Given the description of an element on the screen output the (x, y) to click on. 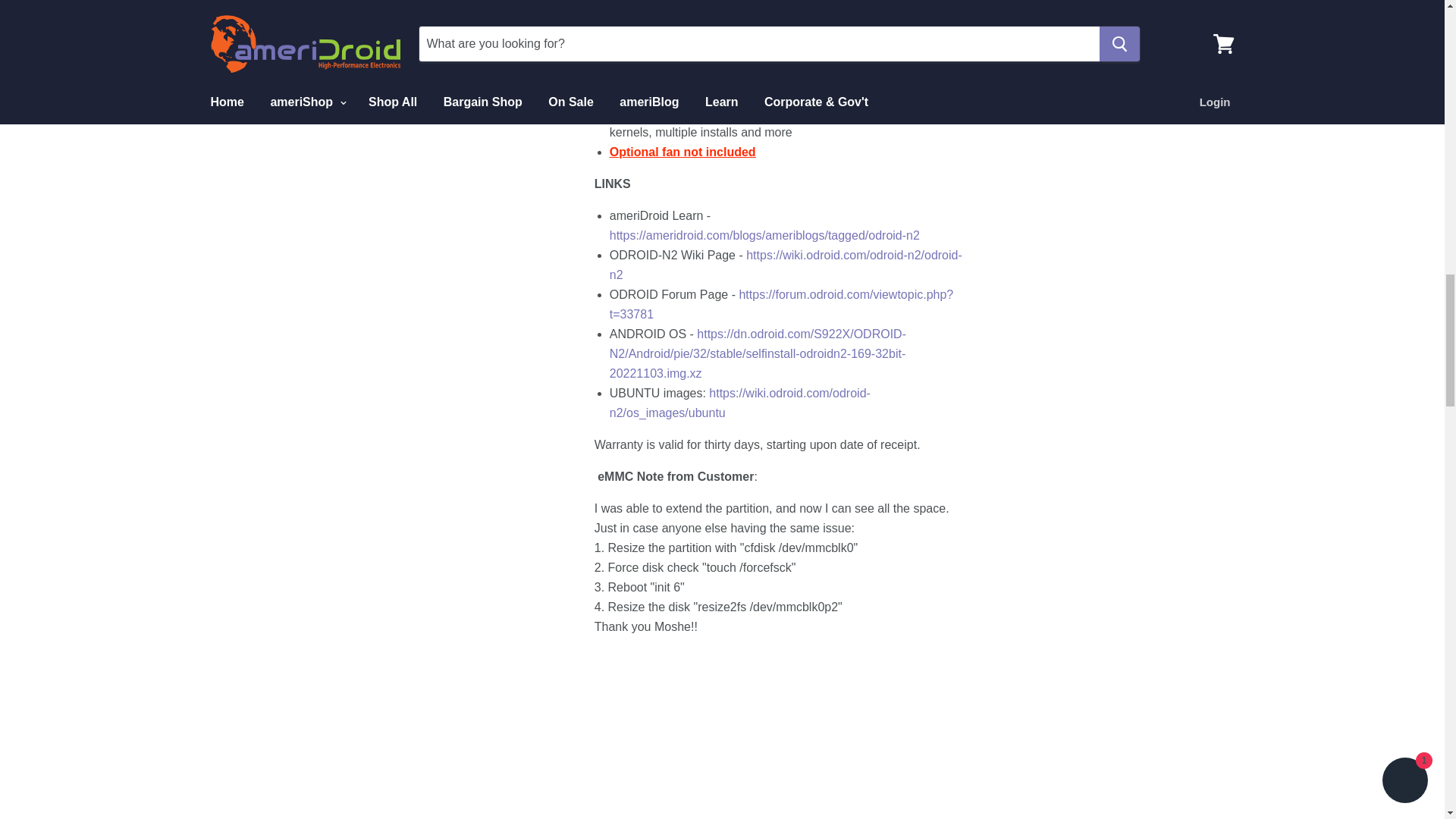
ODROID-N2 Android OS Image (757, 353)
